Given the description of an element on the screen output the (x, y) to click on. 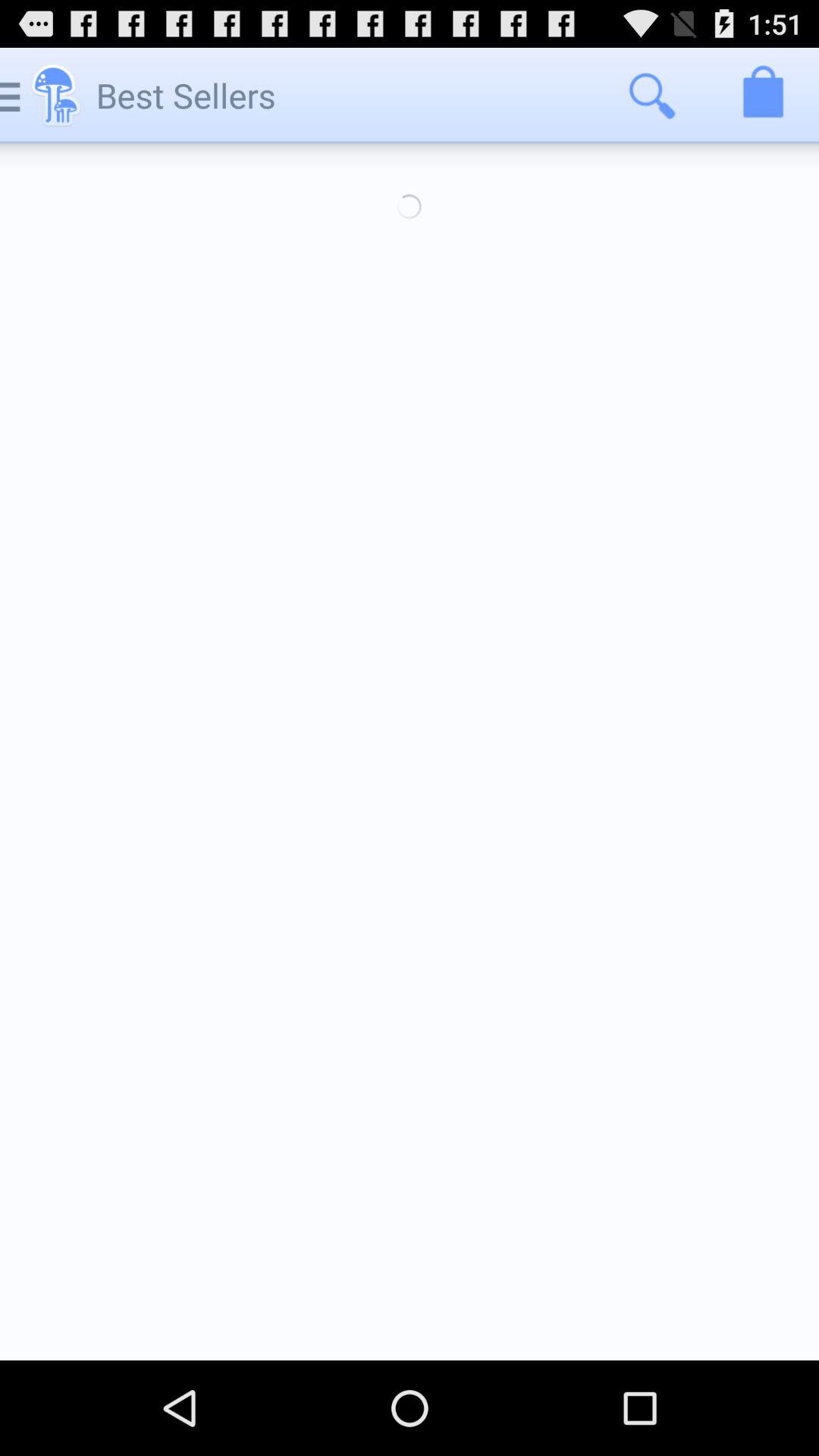
click the icon to the right of best sellers icon (651, 95)
